Given the description of an element on the screen output the (x, y) to click on. 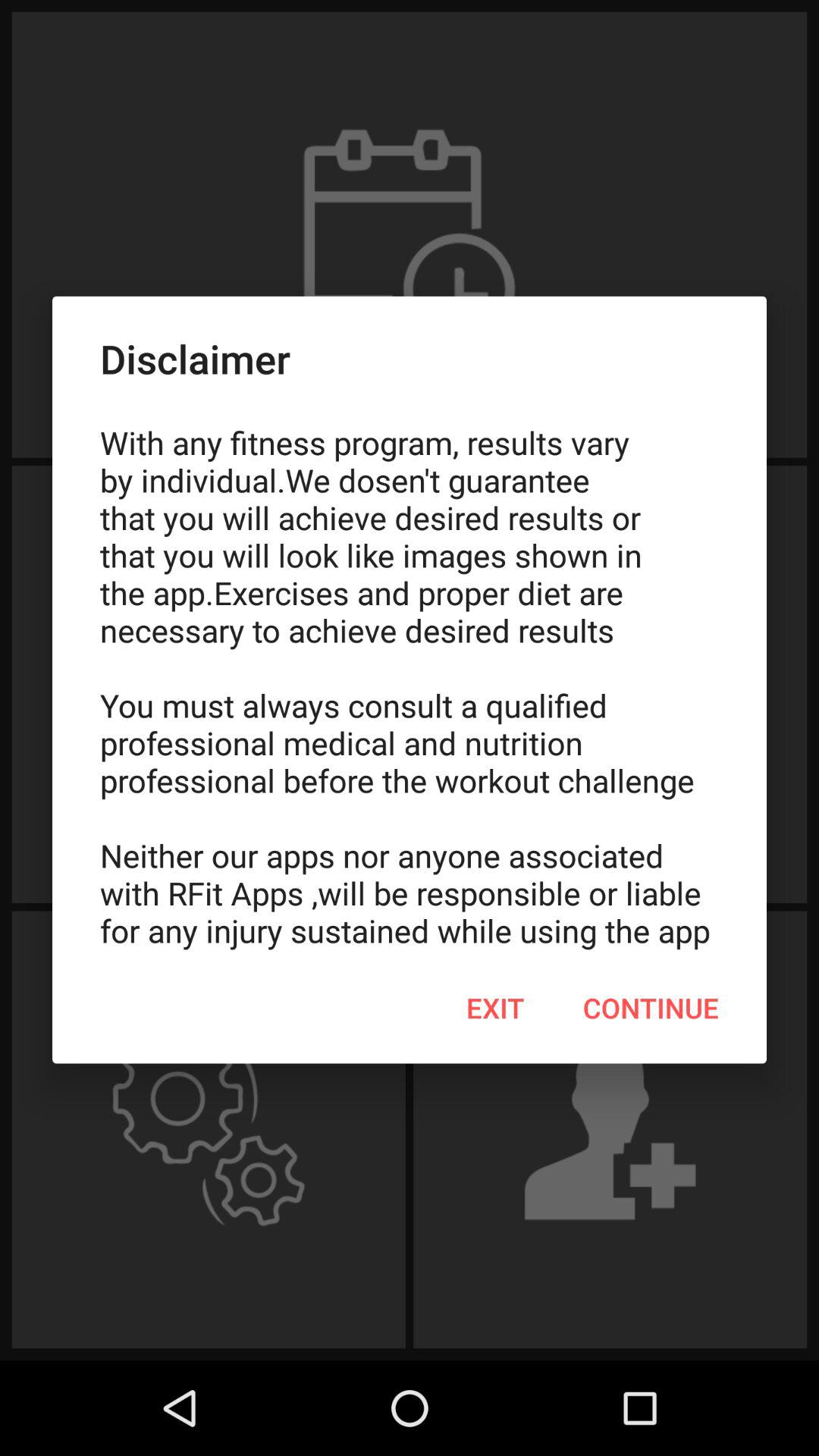
select the icon below the with any fitness (495, 1007)
